Given the description of an element on the screen output the (x, y) to click on. 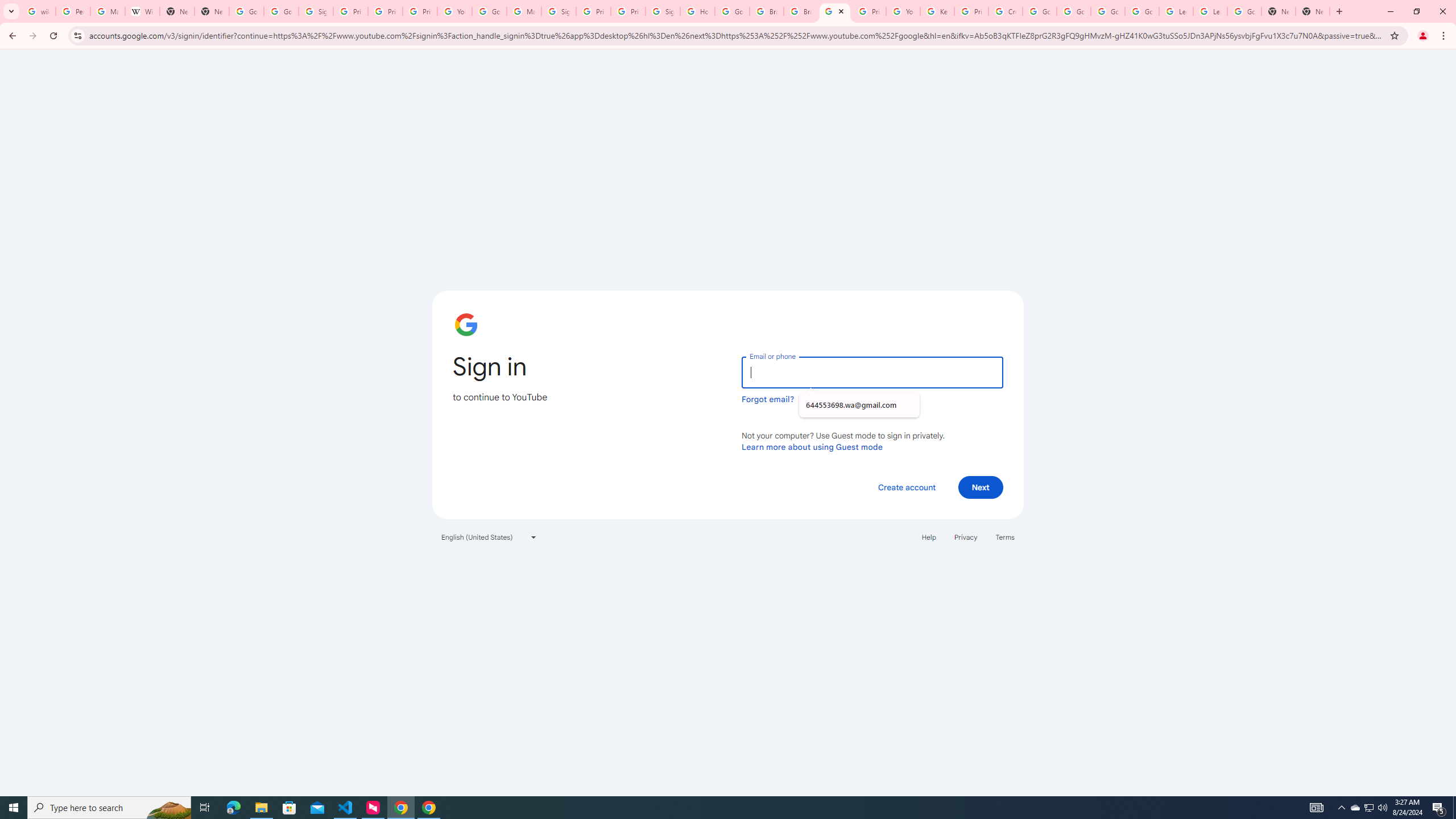
Google Account Help (1107, 11)
Create account (905, 486)
English (United States) (489, 536)
Sign in - Google Accounts (662, 11)
New Tab (211, 11)
Google Account Help (489, 11)
